Given the description of an element on the screen output the (x, y) to click on. 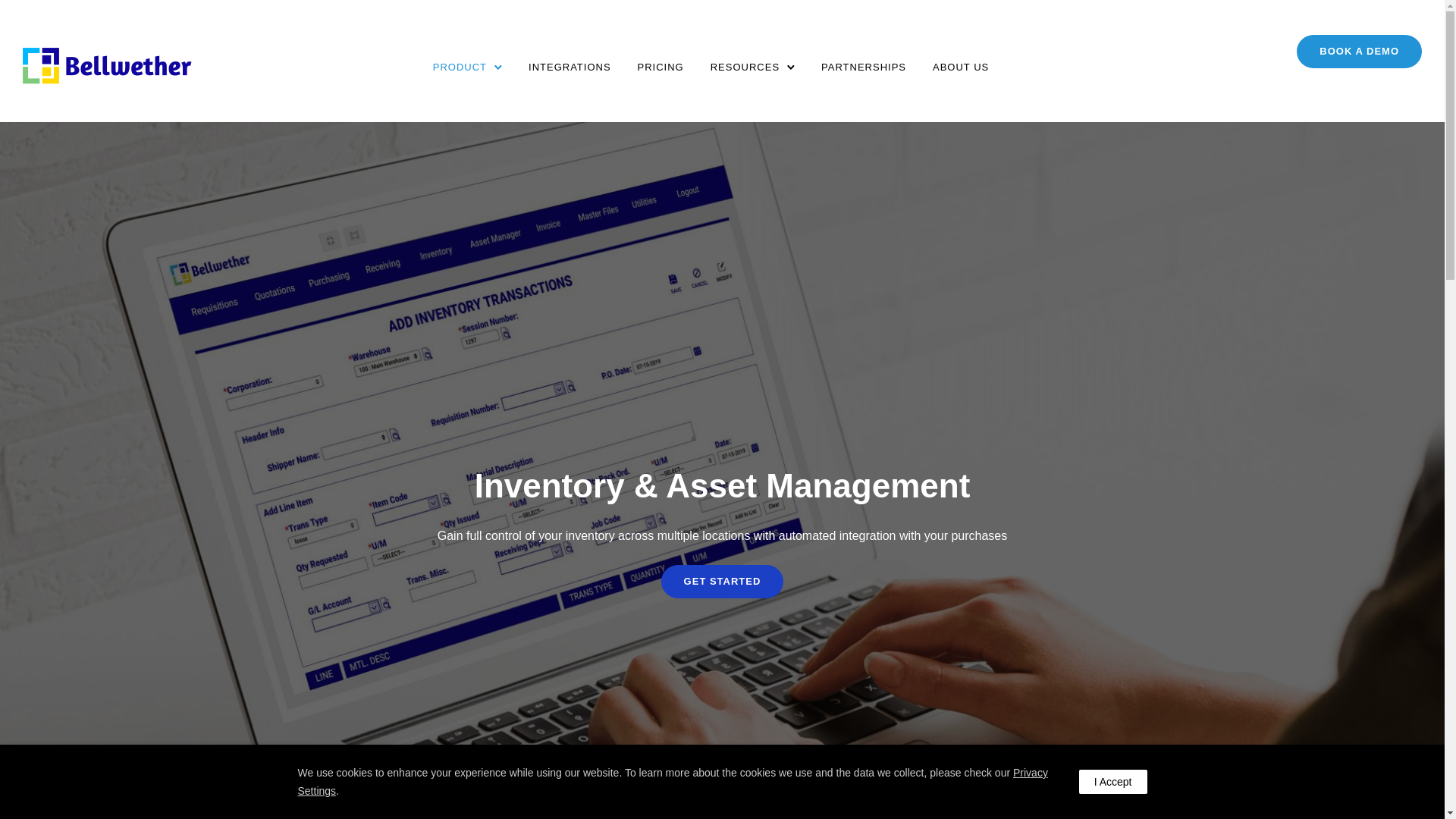
PARTNERSHIPS (863, 67)
Resources (745, 67)
ABOUT US (959, 67)
PRODUCT (460, 67)
PRICING (660, 67)
BOOK A DEMO (1359, 51)
INTEGRATIONS (569, 67)
RESOURCES (745, 67)
Integrations (569, 67)
Product (460, 67)
Pricing (660, 67)
GET STARTED (722, 581)
